Given the description of an element on the screen output the (x, y) to click on. 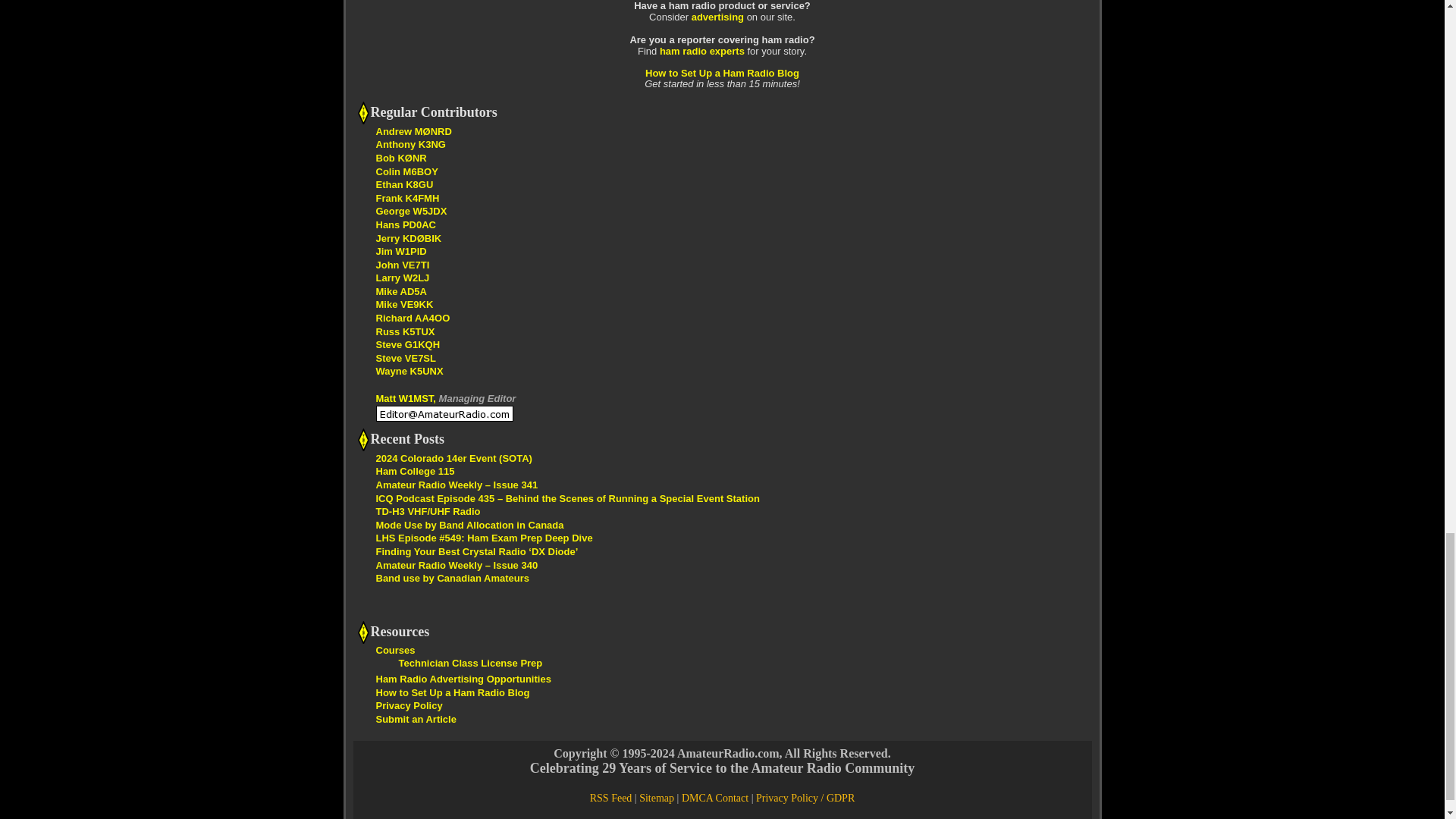
Lower your Power  Raise your Expectations (412, 317)
Entertain, Encourage, Educate and Inspire (408, 238)
MY HAM RADIO EXPERIENCES (400, 291)
ham radio experts (701, 50)
Anthony K3NG (410, 143)
Thoughts of a Dutch radio amateur (405, 224)
How to Set Up a Ham Radio Blog (722, 72)
advertising (717, 16)
Homebrewing and Operating Adventures From 2200m To Nanowaves (405, 357)
Linux in the Ham Shack Podcast in MP3 Format (405, 331)
